Given the description of an element on the screen output the (x, y) to click on. 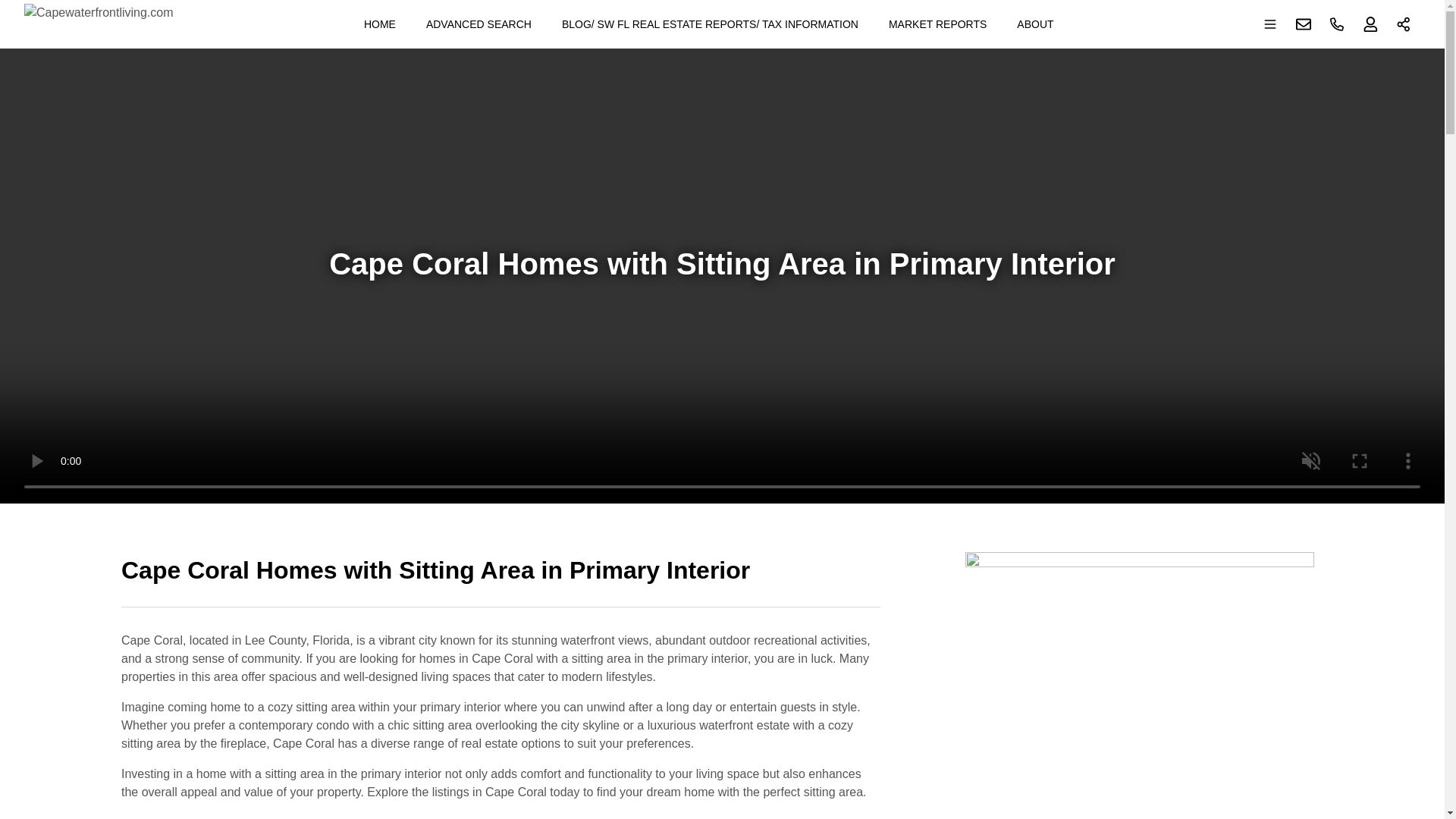
Capewaterfrontliving.com (98, 24)
Cape Coral Homes with Sitting Area in Primary Interior (500, 579)
MARKET REPORTS (937, 24)
Sign up or Sign in (1370, 23)
Share (1404, 23)
Open main menu (1270, 23)
ABOUT (1034, 24)
Contact us (1303, 23)
HOME (379, 24)
Phone number (1337, 23)
ADVANCED SEARCH (478, 24)
